Given the description of an element on the screen output the (x, y) to click on. 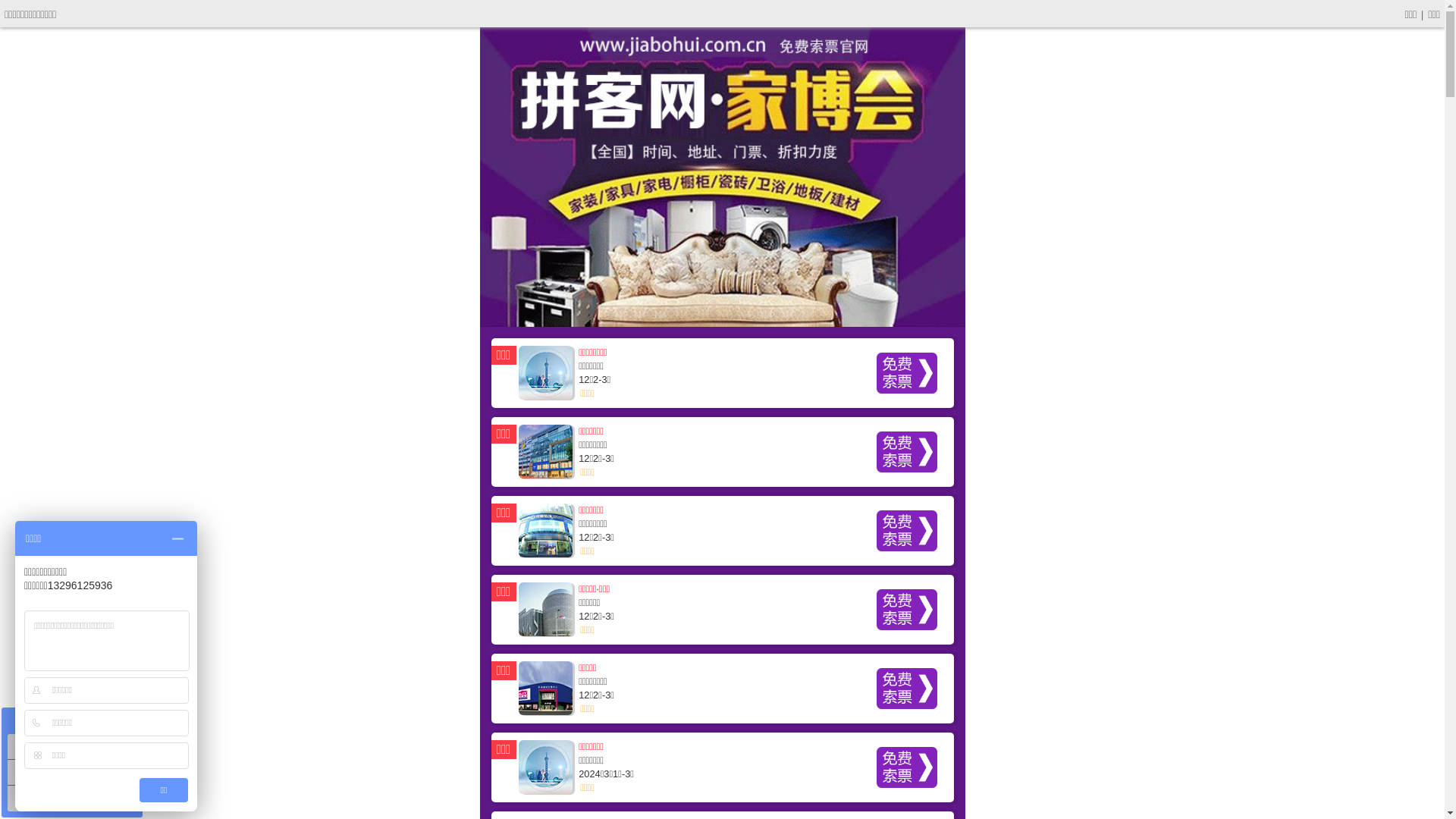
  Element type: text (722, 689)
  Element type: text (722, 768)
  Element type: text (722, 374)
  Element type: text (722, 531)
  Element type: text (722, 453)
  Element type: text (722, 610)
